Given the description of an element on the screen output the (x, y) to click on. 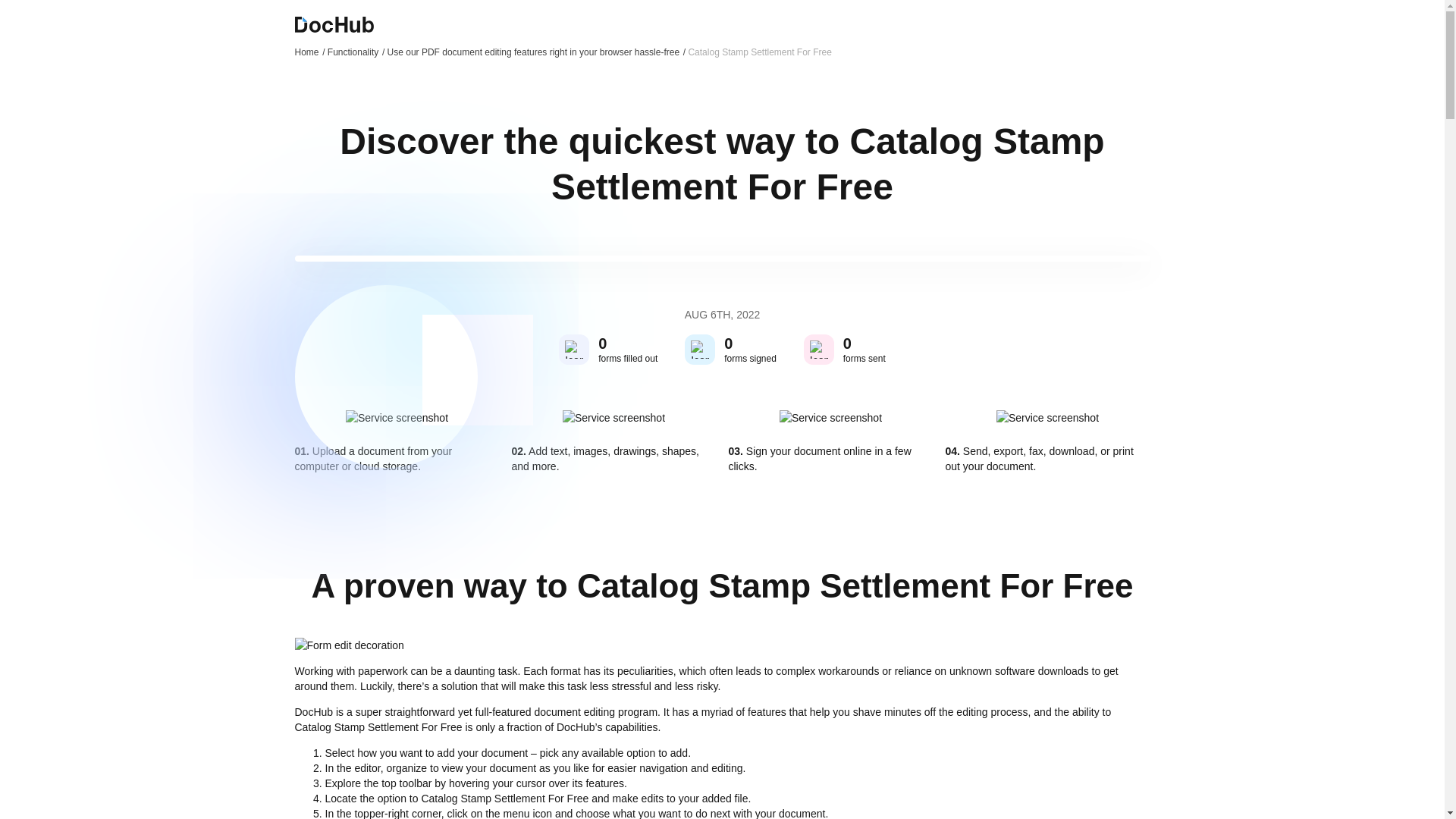
Home (309, 51)
Functionality (355, 51)
